Given the description of an element on the screen output the (x, y) to click on. 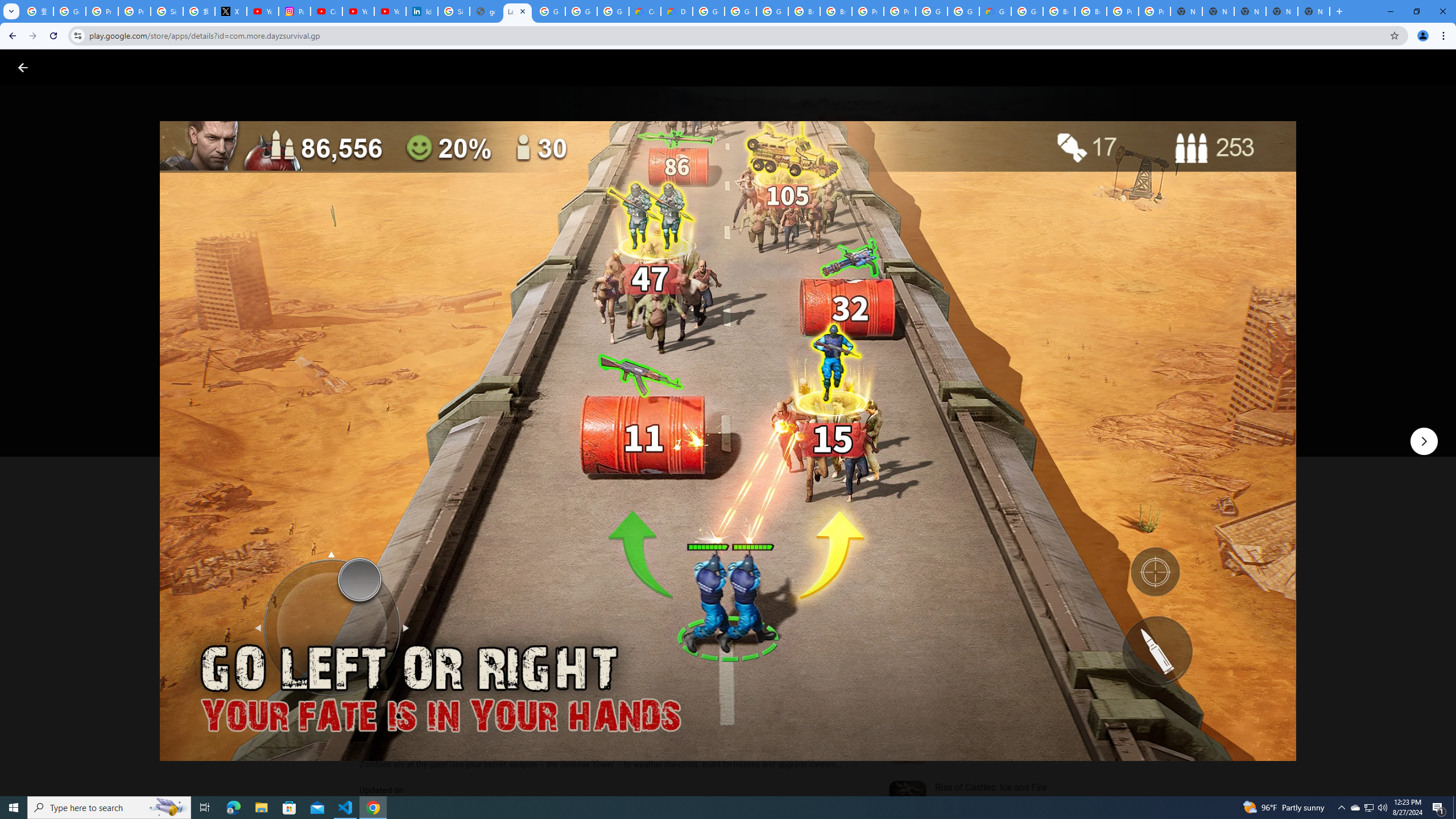
Google Workspace - Specific Terms (613, 11)
Google Play logo (64, 67)
Games (141, 67)
